Given the description of an element on the screen output the (x, y) to click on. 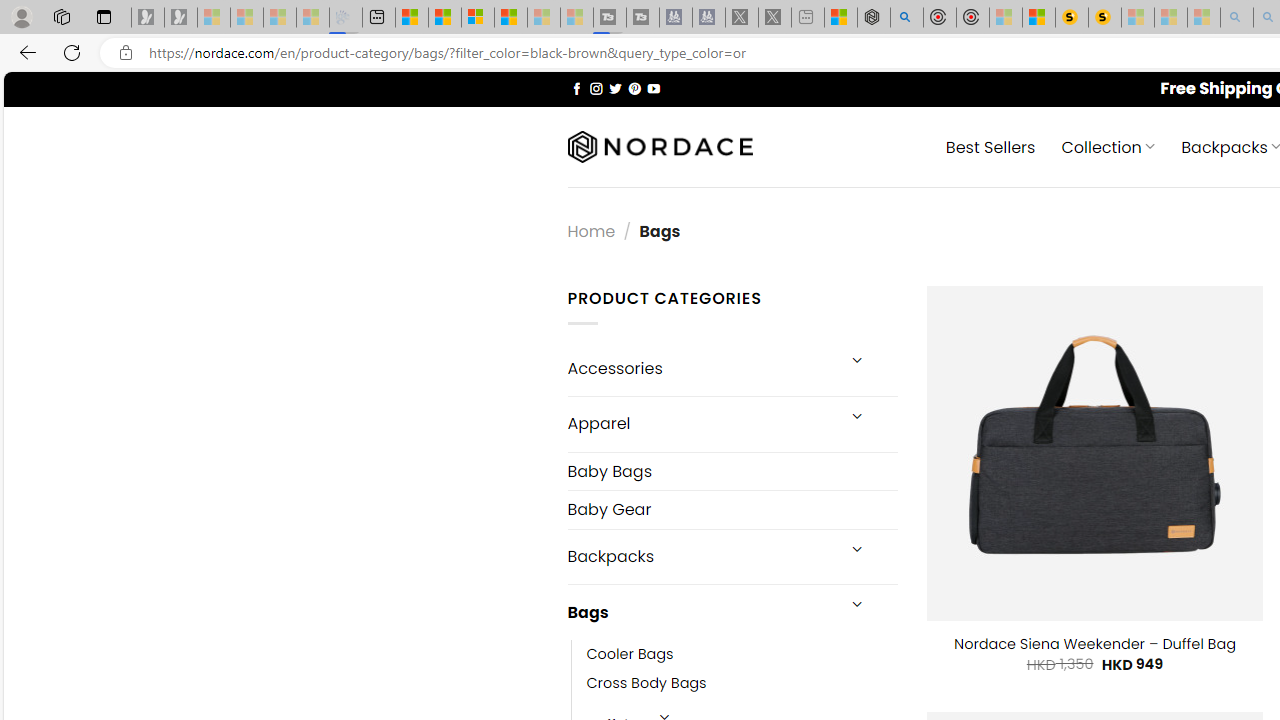
Apparel (700, 423)
Follow on Twitter (615, 88)
Baby Gear (732, 510)
Baby Bags (732, 471)
